Given the description of an element on the screen output the (x, y) to click on. 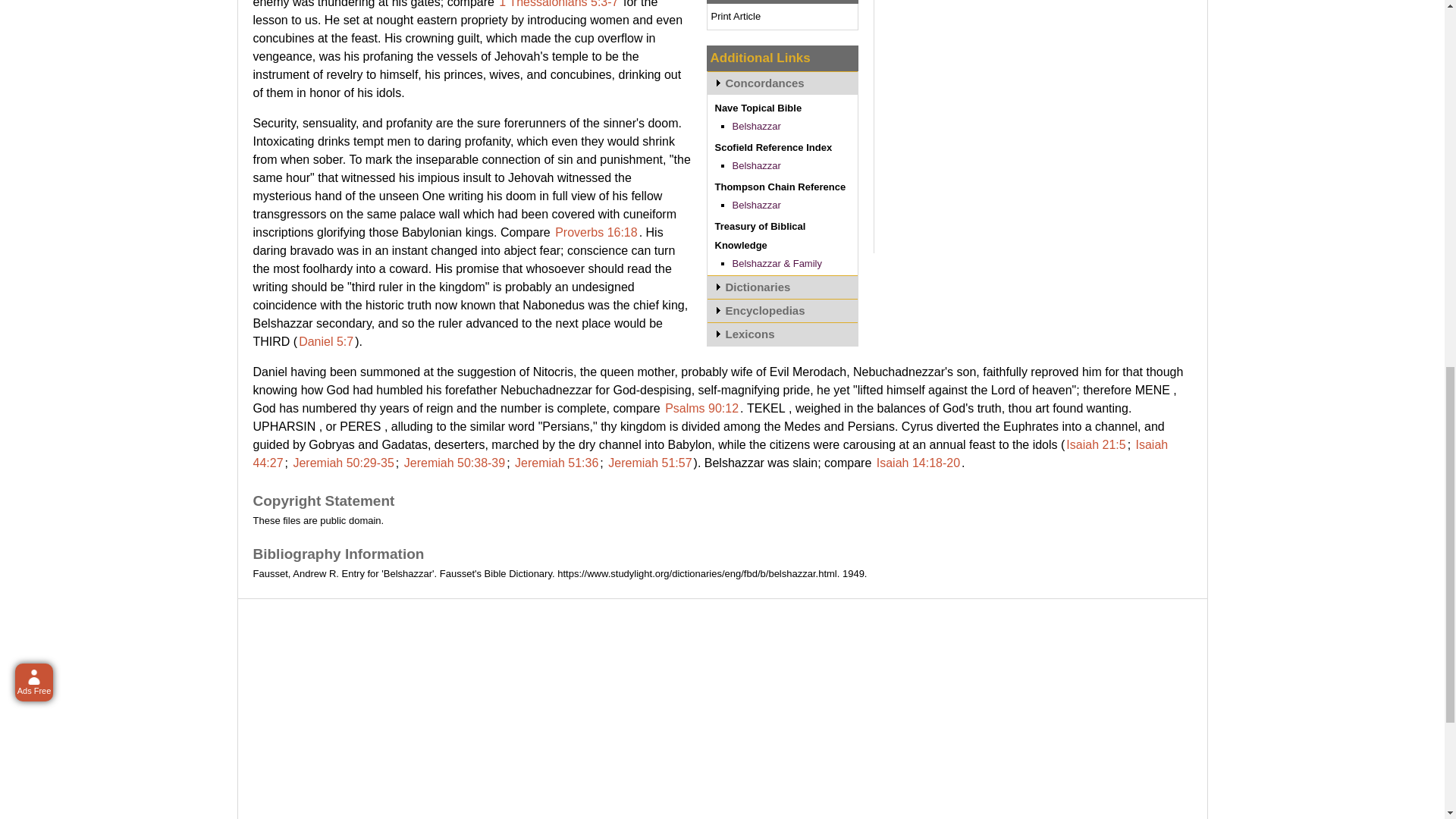
Print Article (736, 16)
Belshazzar (756, 165)
Concordances (781, 83)
Belshazzar (756, 125)
